Given the description of an element on the screen output the (x, y) to click on. 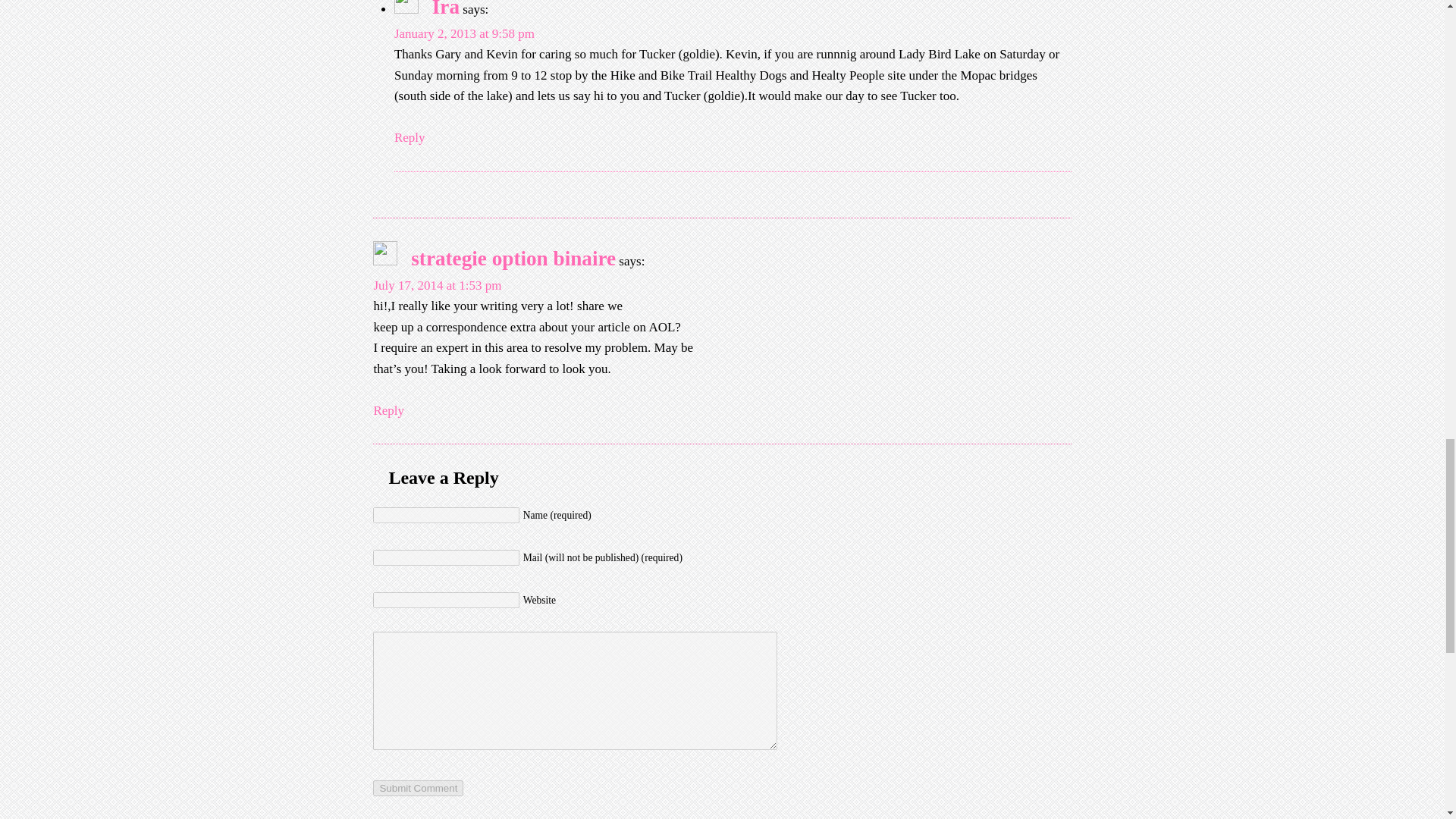
Submit Comment (417, 788)
Reply (409, 137)
Reply (388, 410)
Ira (446, 9)
strategie option binaire (512, 259)
January 2, 2013 at 9:58 pm (464, 33)
July 17, 2014 at 1:53 pm (436, 285)
Submit Comment (417, 788)
